Given the description of an element on the screen output the (x, y) to click on. 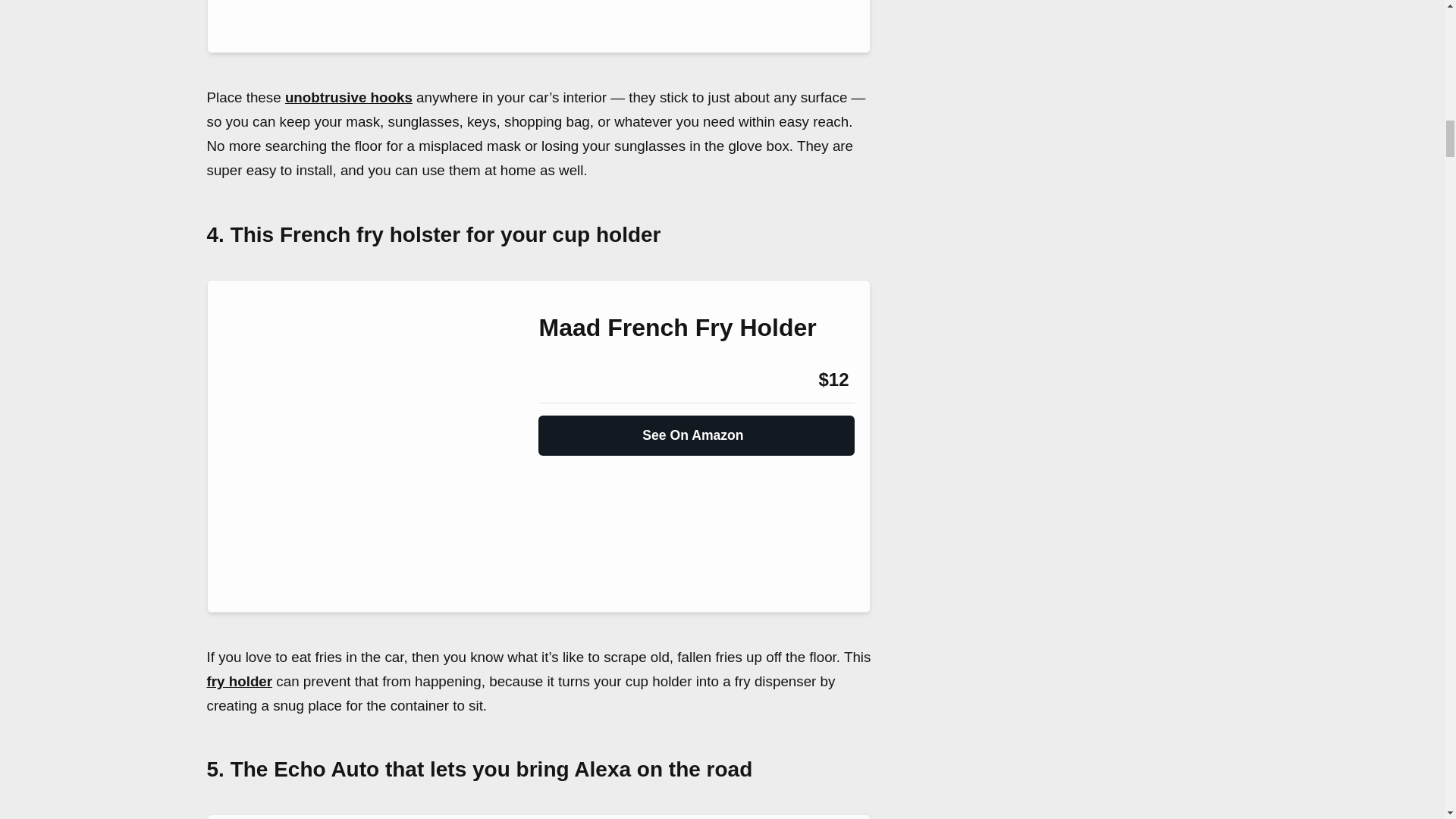
Amazon (579, 380)
fry holder (239, 681)
See On Amazon (696, 428)
unobtrusive hooks (348, 97)
